Given the description of an element on the screen output the (x, y) to click on. 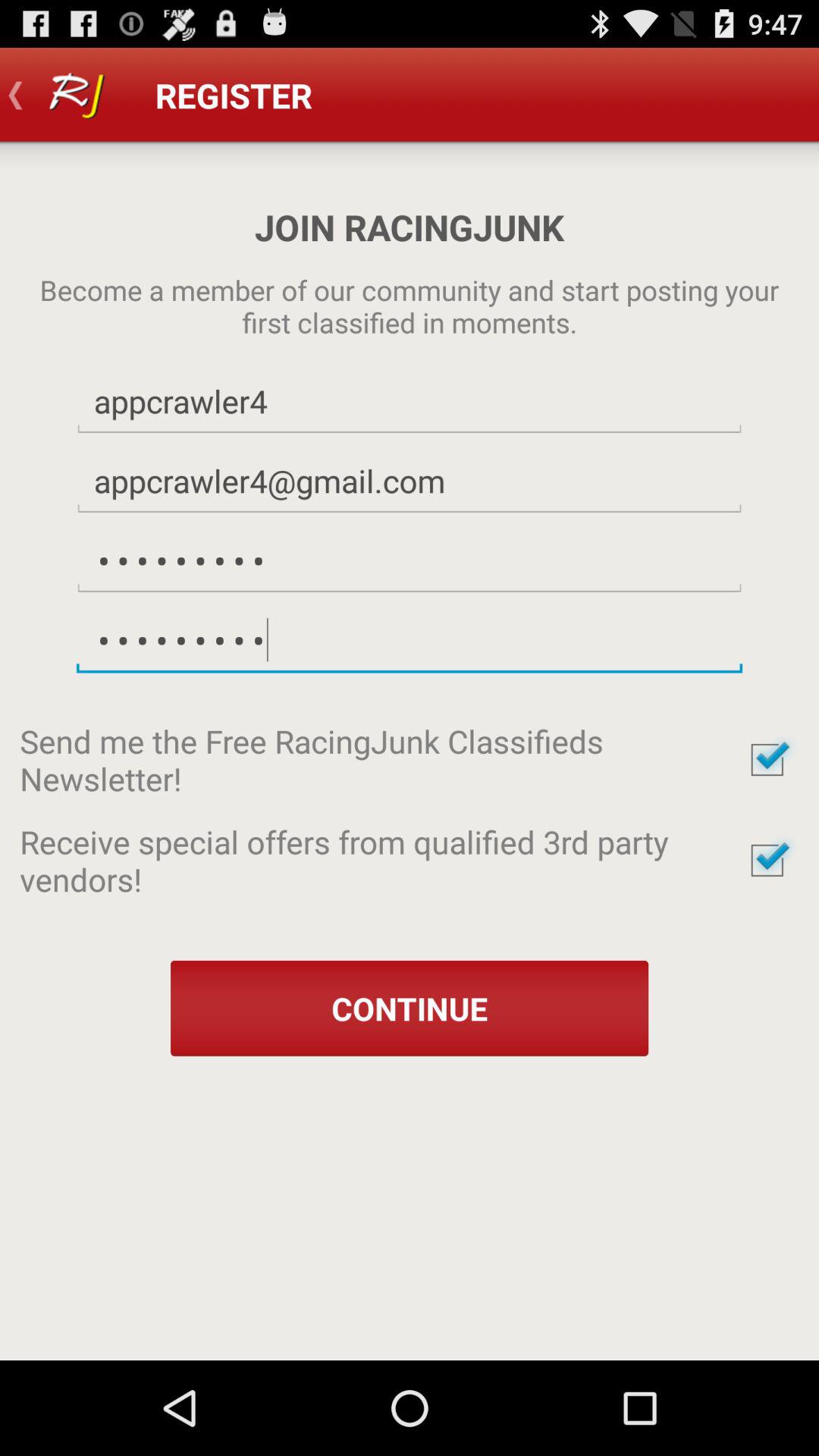
unselect the promo button (767, 860)
